Given the description of an element on the screen output the (x, y) to click on. 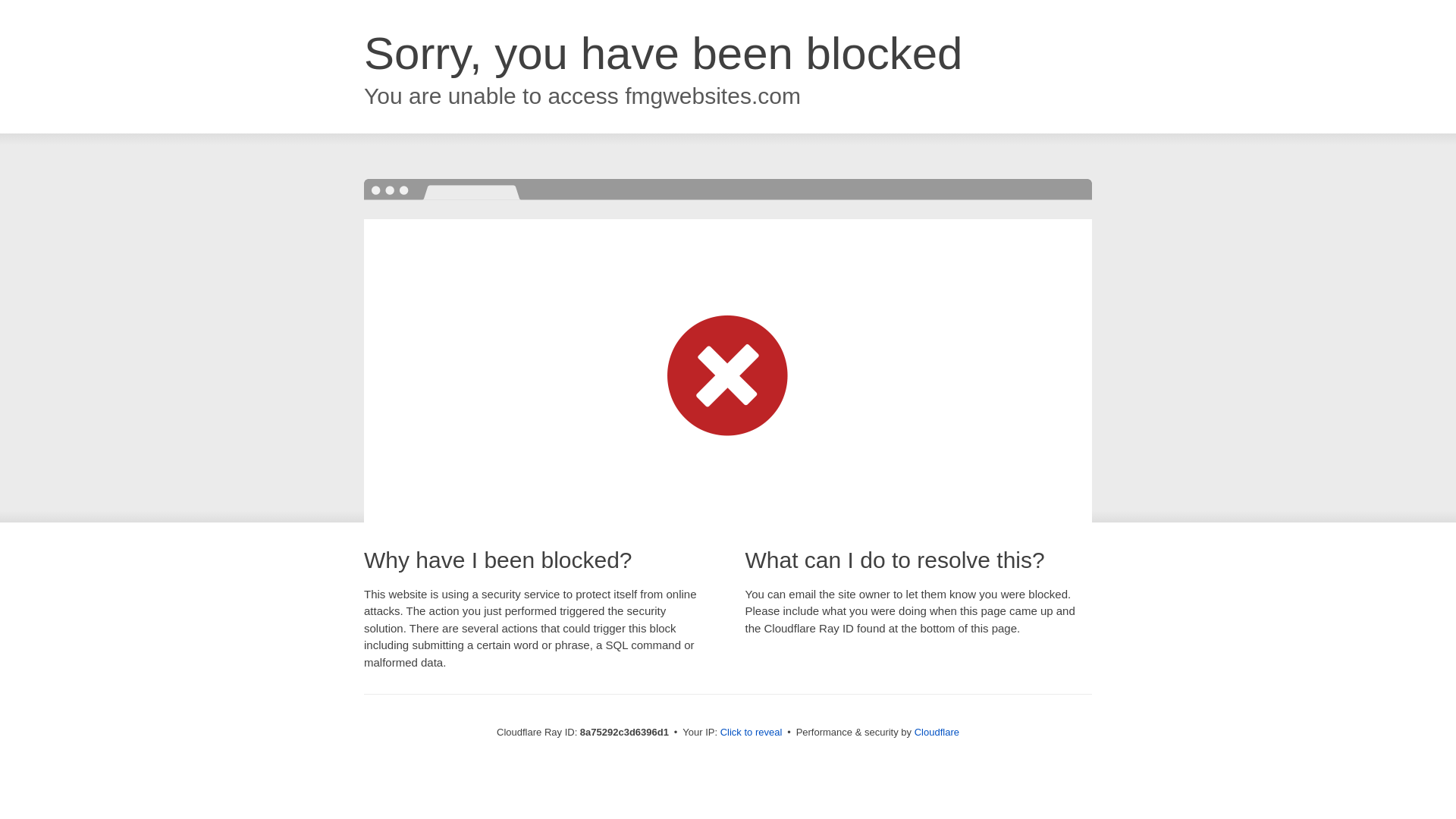
Click to reveal (751, 732)
Cloudflare (936, 731)
